Given the description of an element on the screen output the (x, y) to click on. 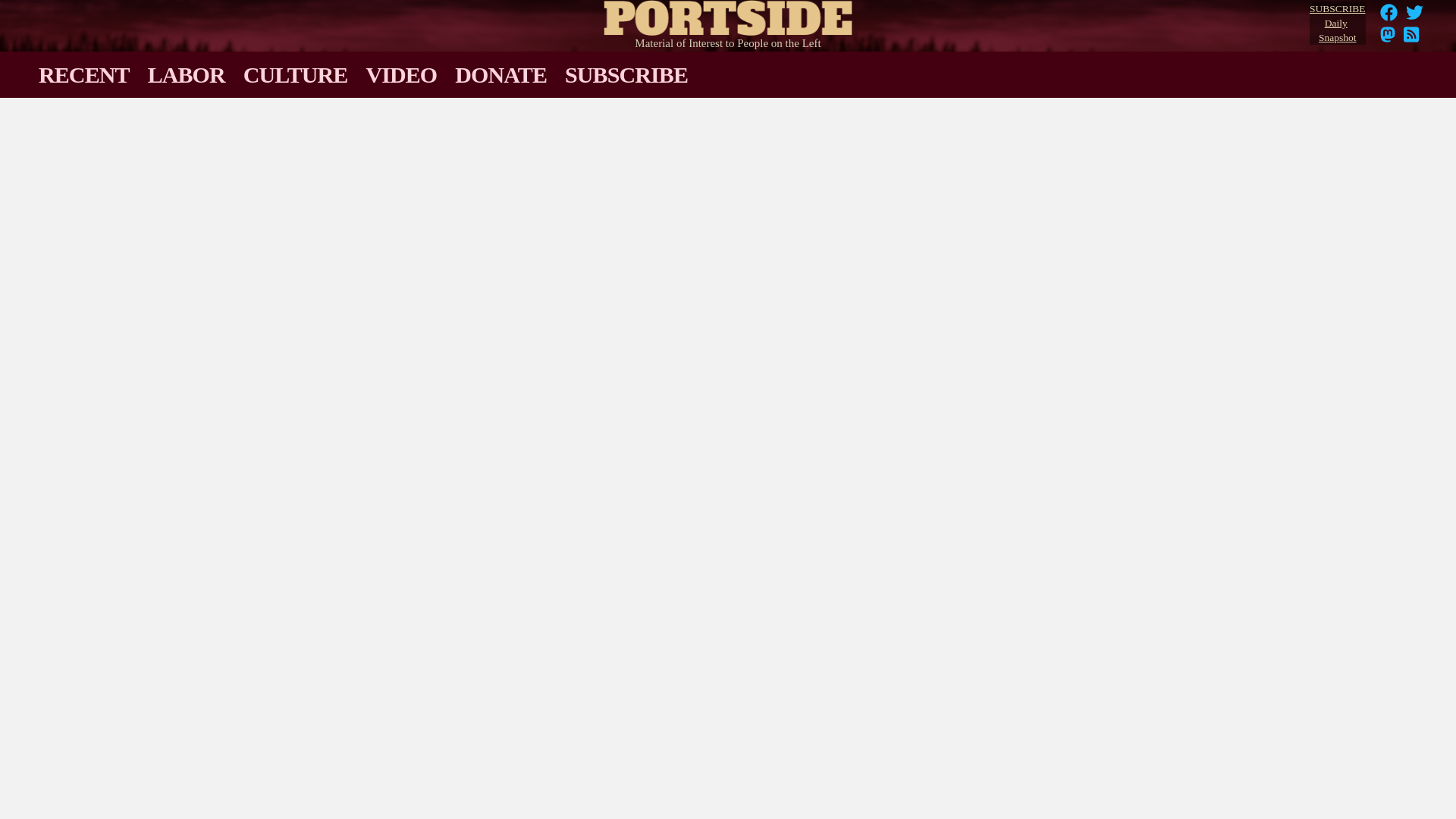
Facebook (1388, 11)
Mastodon (1387, 39)
Follow Portside on Mastodon (1387, 39)
Twitter (1414, 11)
Home (727, 14)
Follow Portside on Facebook (1336, 23)
Skip to main content (1388, 16)
Follow Portside's RSS feed (1414, 16)
RSS (1411, 39)
Facebook (1411, 39)
Follow Portside on Twitter (1388, 16)
